Given the description of an element on the screen output the (x, y) to click on. 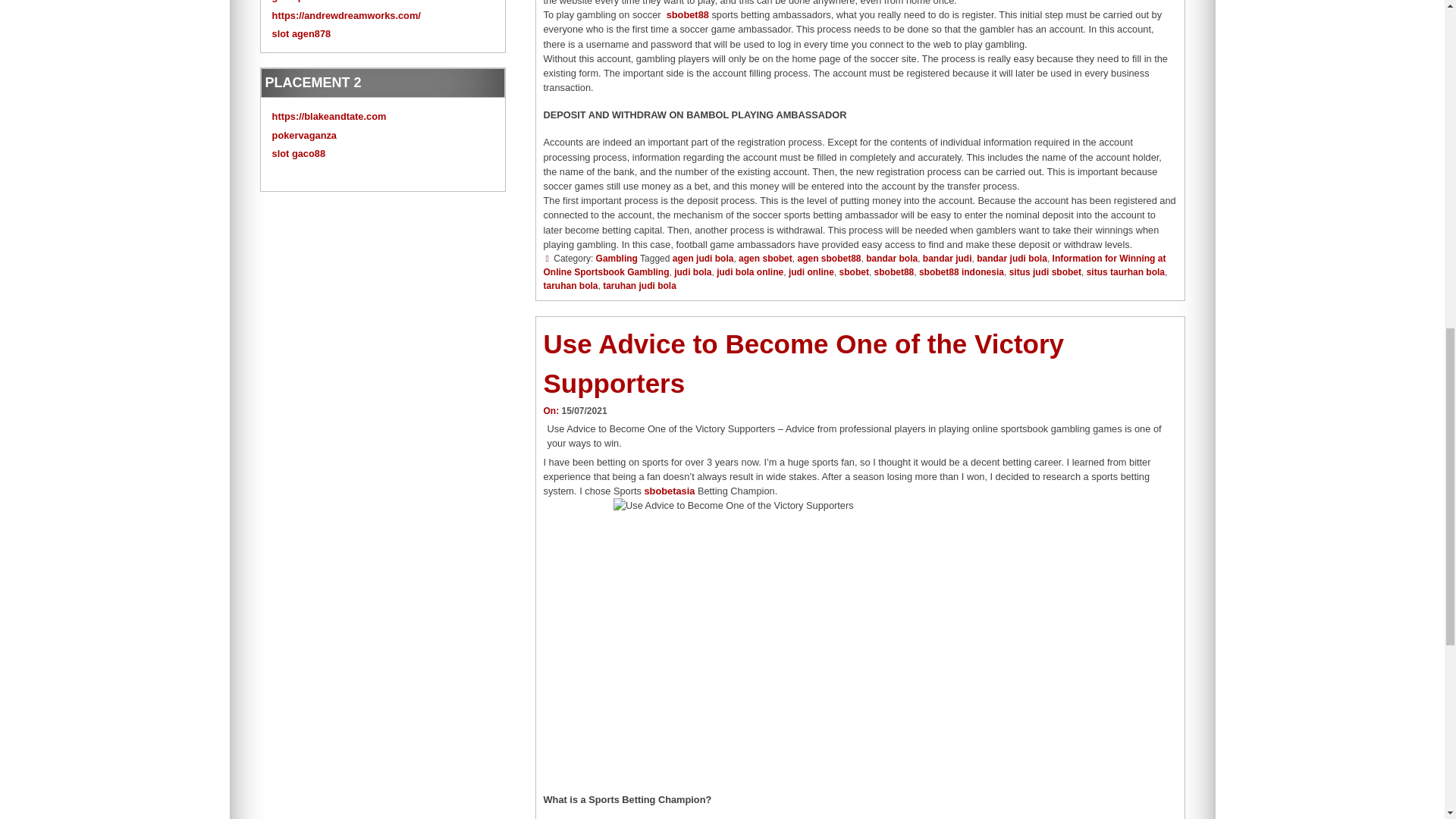
Gambling (616, 258)
bandar judi bola (1011, 258)
sbobet88 (894, 271)
sbobet88 (687, 14)
taruhan bola (569, 285)
judi online (811, 271)
agen sbobet (765, 258)
taruhan judi bola (639, 285)
sbobet88 indonesia (961, 271)
agen sbobet88 (828, 258)
Information for Winning at Online Sportsbook Gambling (854, 265)
judi bola (692, 271)
situs taurhan bola (1125, 271)
judi bola online (749, 271)
Use Advice to Become One of the Victory Supporters (803, 363)
